Given the description of an element on the screen output the (x, y) to click on. 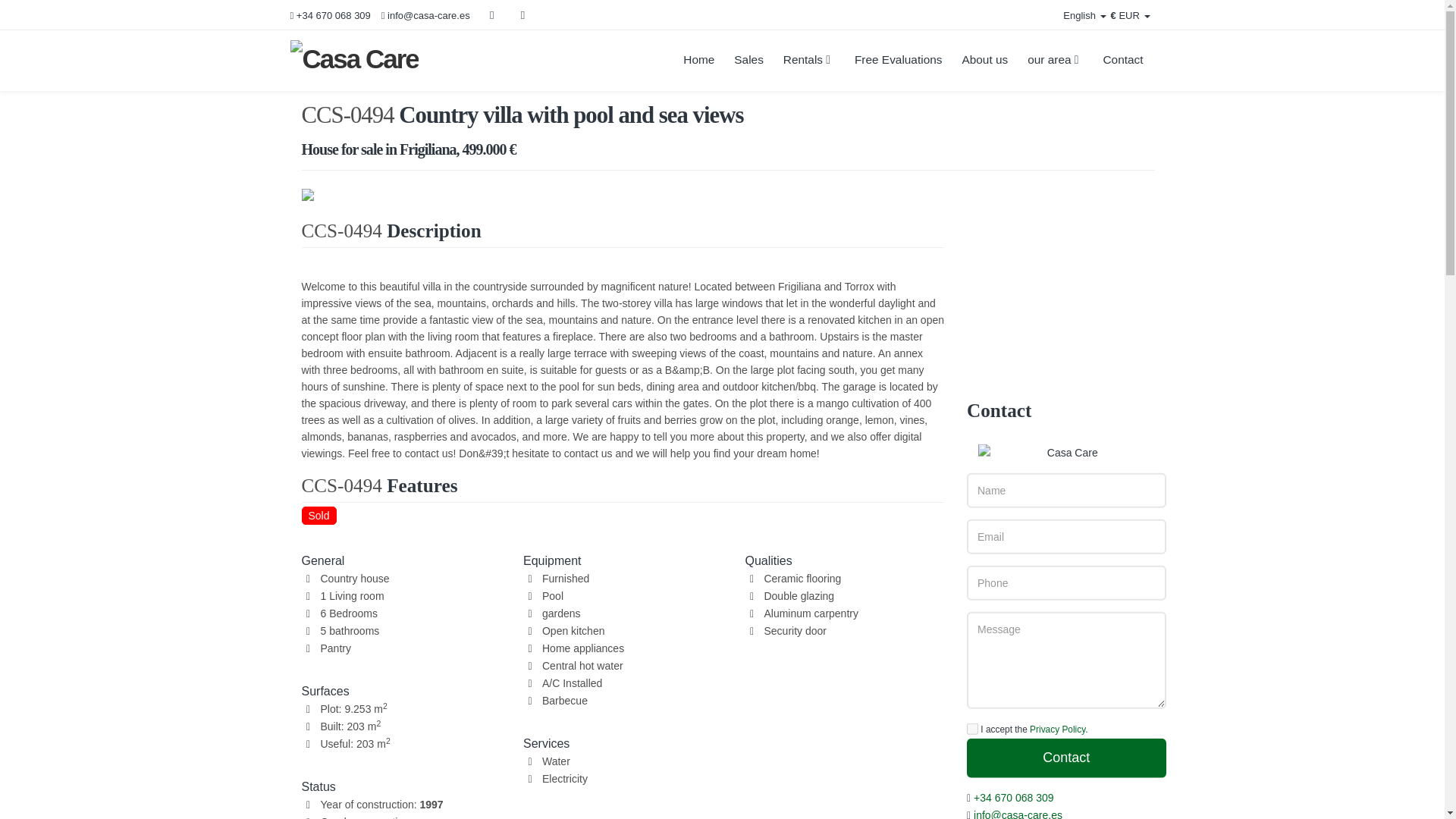
Casa Care (402, 60)
Home (698, 60)
1 (972, 810)
English (1074, 15)
Decline (236, 777)
Accept (306, 777)
Sales (748, 60)
Rentals (808, 60)
Free Evaluations (898, 60)
About us (984, 60)
